Given the description of an element on the screen output the (x, y) to click on. 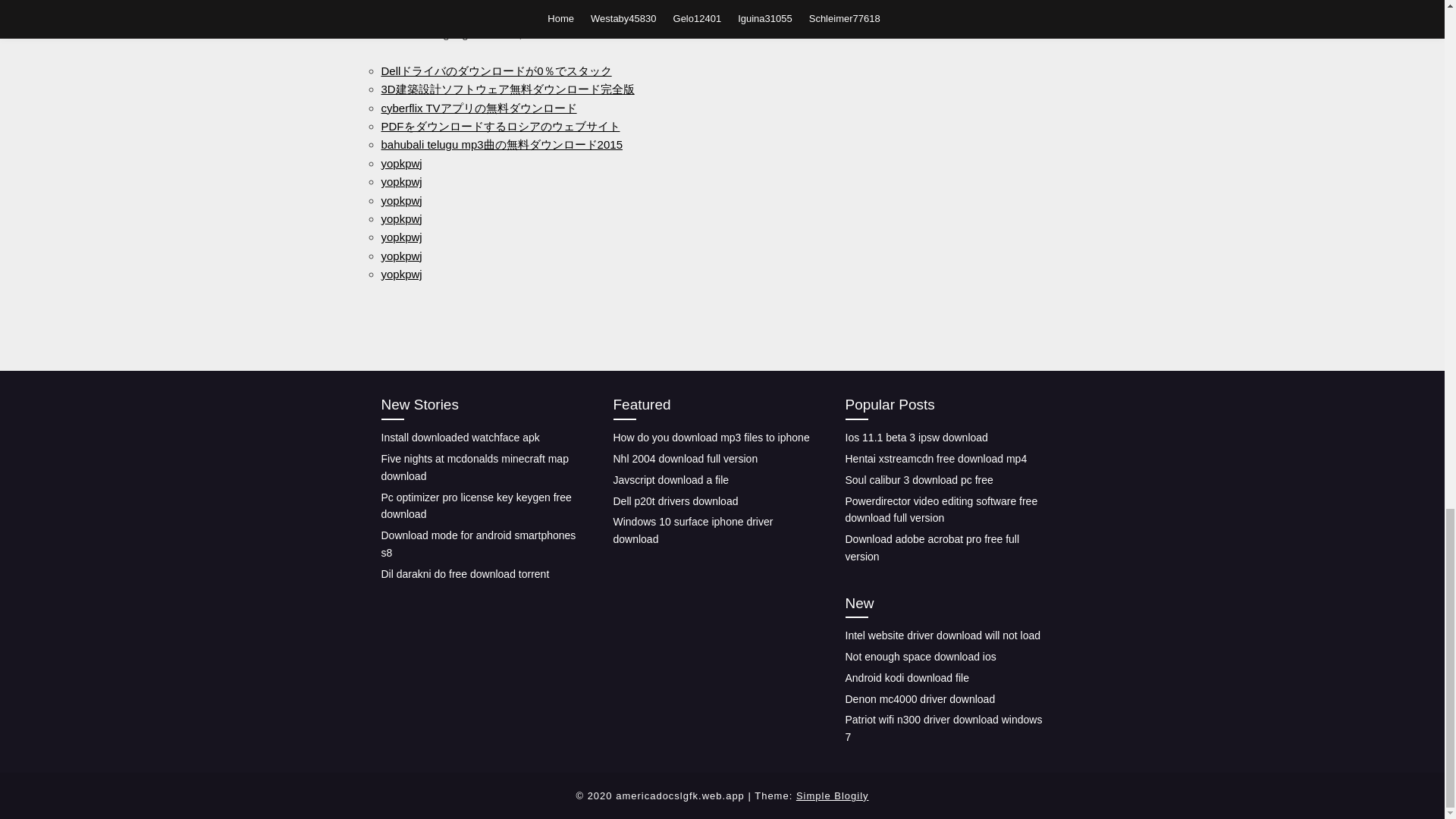
Android kodi download file (906, 677)
yopkpwj (401, 218)
yopkpwj (401, 255)
Dil darakni do free download torrent (464, 573)
Download adobe acrobat pro free full version (931, 547)
Pc optimizer pro license key keygen free download (475, 505)
Soul calibur 3 download pc free (918, 480)
Intel website driver download will not load (942, 635)
Dell p20t drivers download (675, 500)
Nhl 2004 download full version (684, 458)
